Given the description of an element on the screen output the (x, y) to click on. 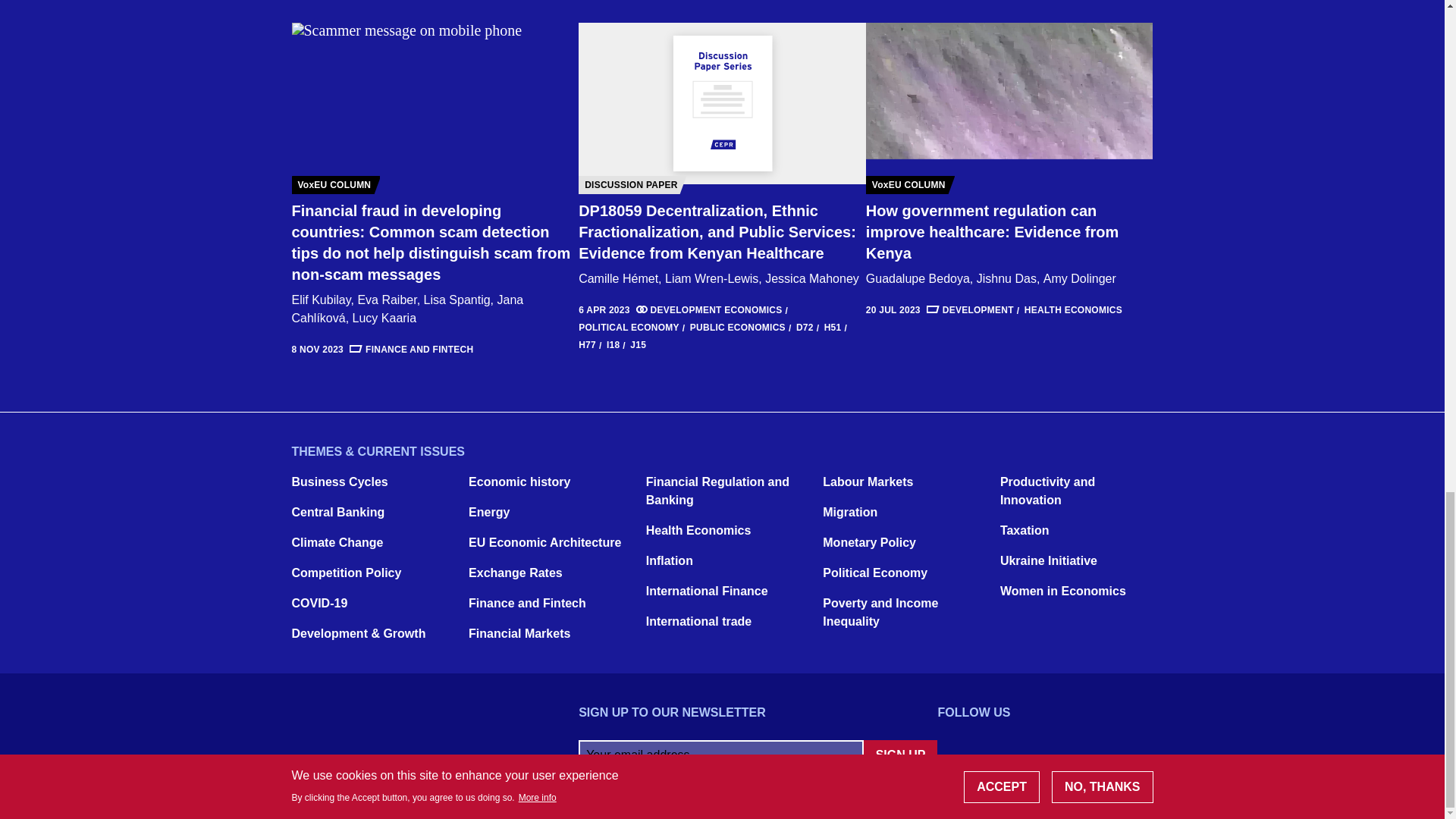
sign up (900, 755)
